Given the description of an element on the screen output the (x, y) to click on. 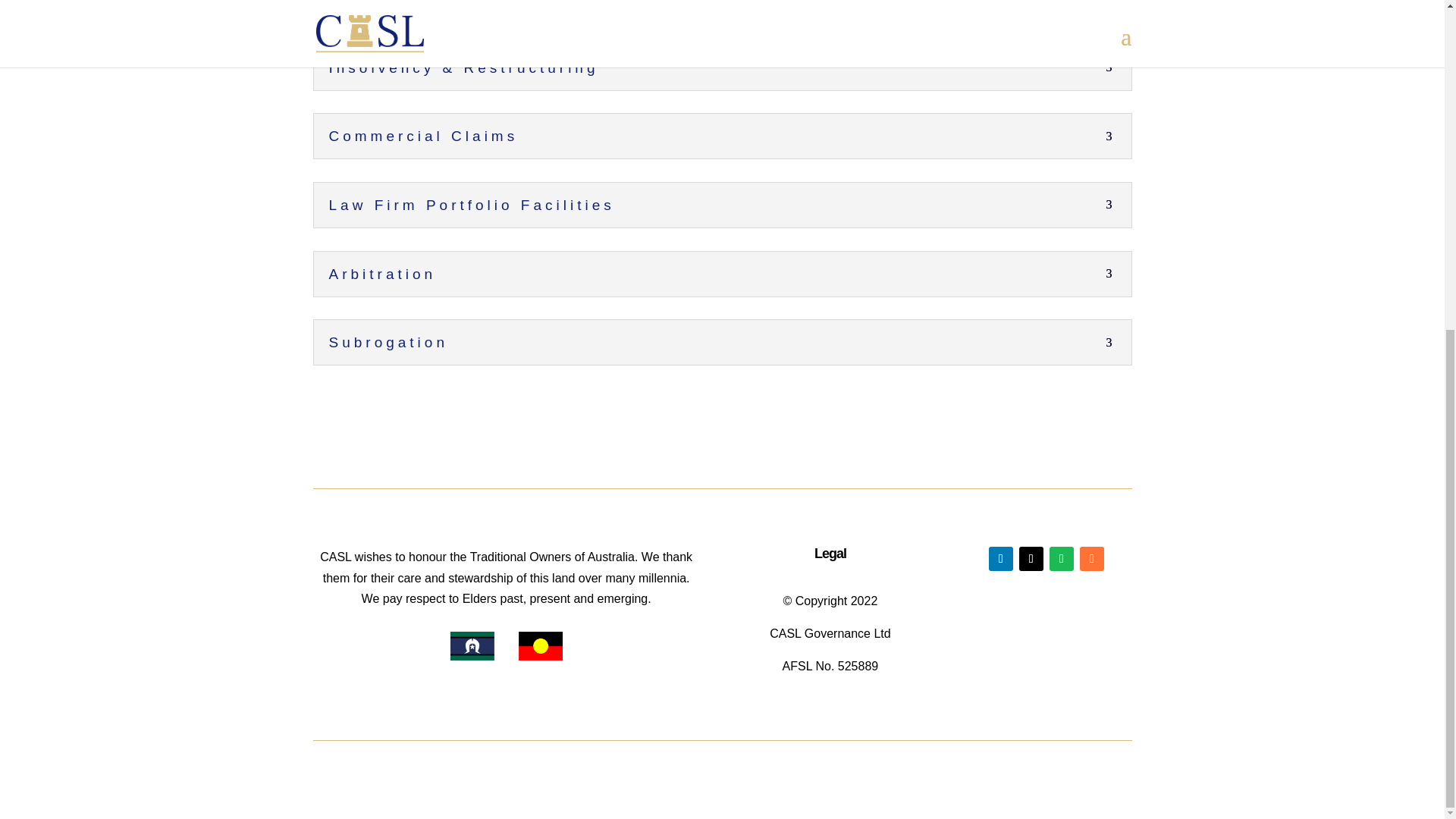
Follow on iTunes (1091, 558)
Follow on X (1031, 558)
Follow on Spotify (1061, 558)
Legal (829, 553)
Follow on LinkedIn (1000, 558)
Aus indig flags (505, 645)
